Given the description of an element on the screen output the (x, y) to click on. 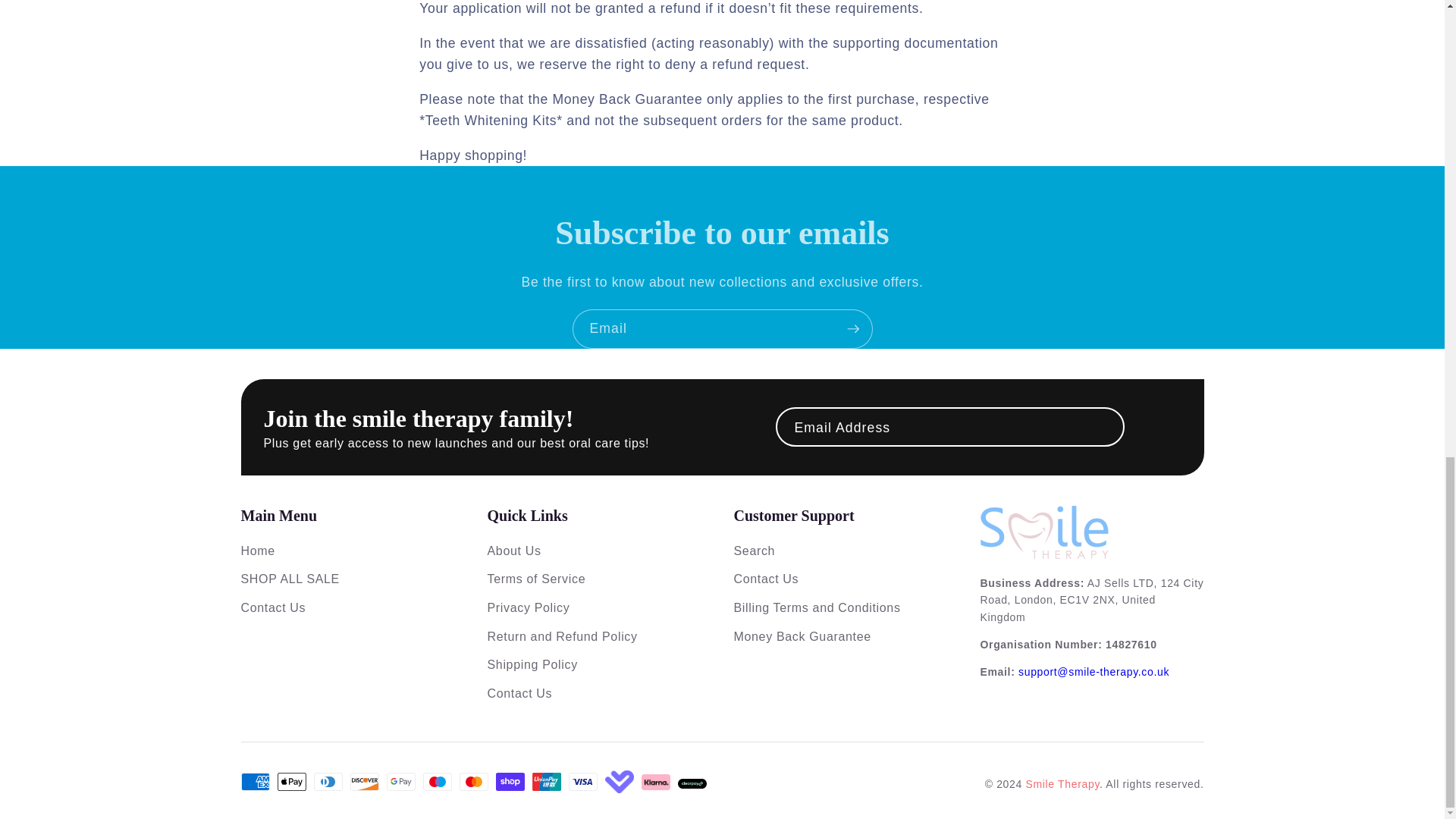
Shop Pay (510, 782)
Visa (582, 782)
Diners Club (328, 782)
Contact Us (273, 607)
Mastercard (473, 782)
Privacy Policy (527, 607)
Search (754, 550)
Home (258, 550)
Contact Us (766, 578)
Smile Therapy (1062, 784)
Contact Us (518, 693)
Maestro (437, 782)
Money Back Guarantee (801, 635)
Shipping Policy (531, 664)
American Express (255, 782)
